Given the description of an element on the screen output the (x, y) to click on. 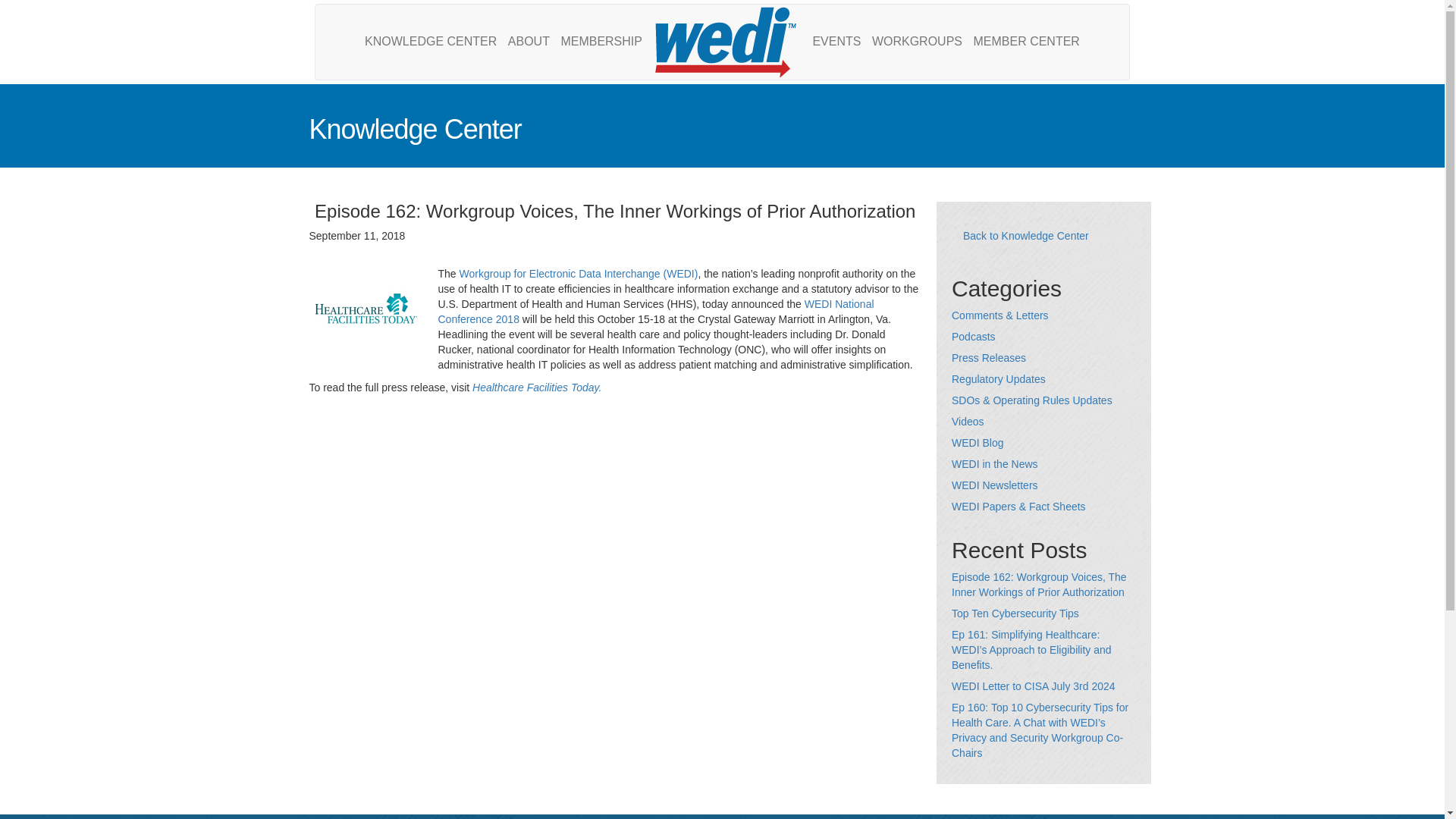
KNOWLEDGE CENTER (430, 41)
ABOUT (528, 41)
